Given the description of an element on the screen output the (x, y) to click on. 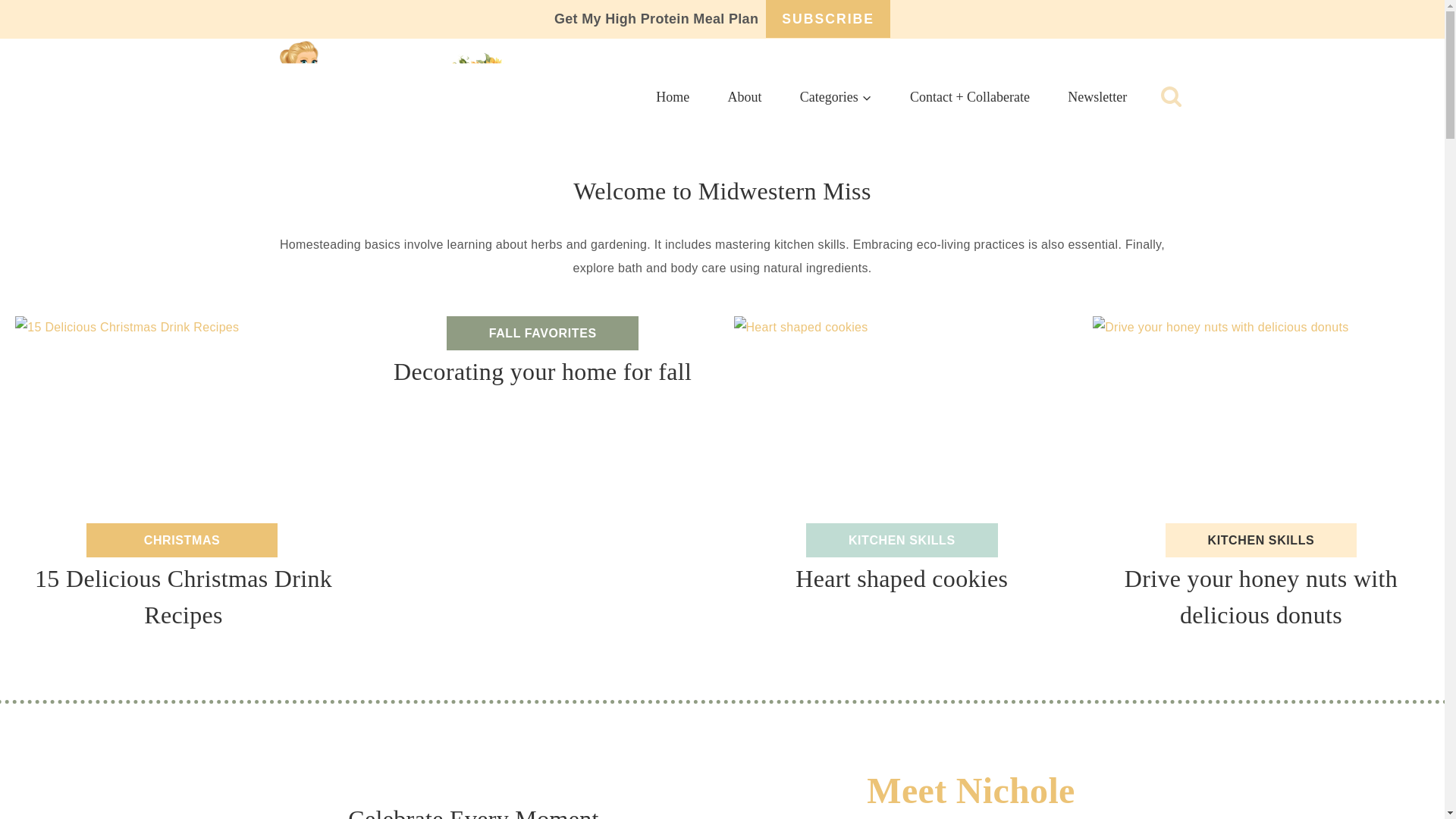
Categories (835, 96)
Newsletter (1096, 96)
Home (672, 96)
SUBSCRIBE (827, 18)
About (743, 96)
